Given the description of an element on the screen output the (x, y) to click on. 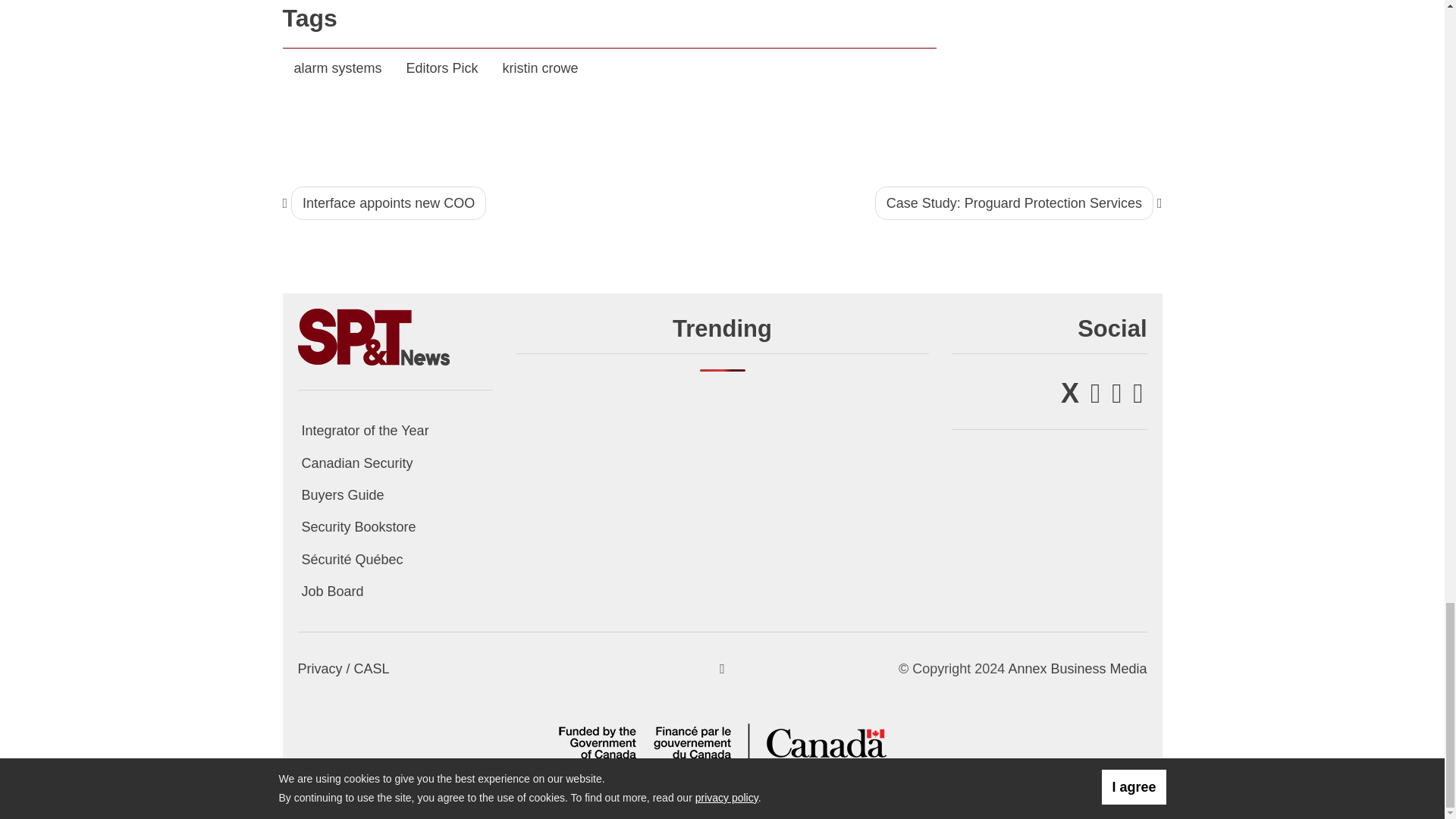
Annex Business Media (1077, 668)
